Given the description of an element on the screen output the (x, y) to click on. 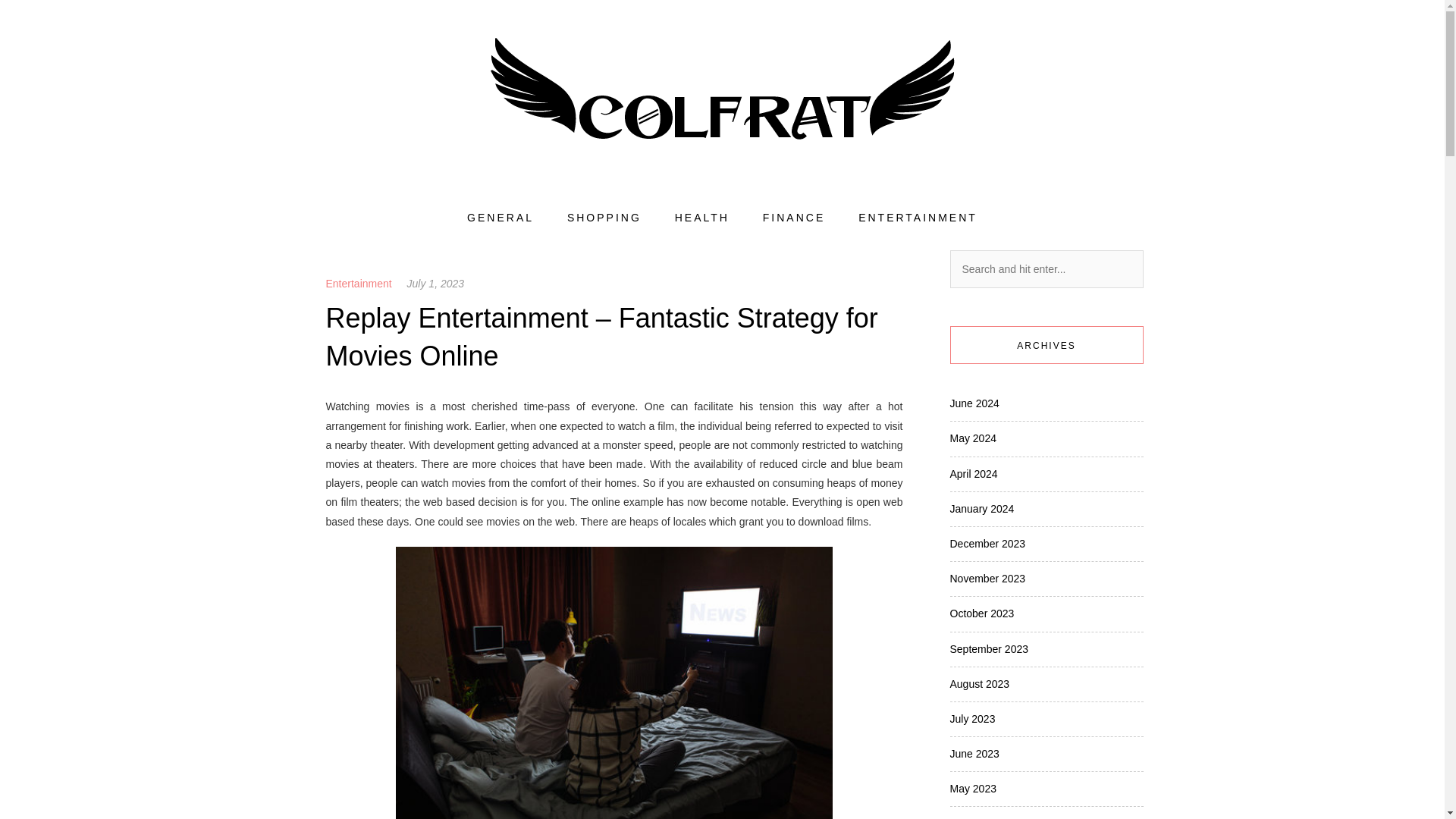
GENERAL (500, 217)
SHOPPING (604, 217)
November 2023 (987, 578)
May 2024 (972, 438)
May 2023 (972, 788)
ENTERTAINMENT (917, 217)
Entertainment (358, 283)
July 1, 2023 (435, 283)
FINANCE (793, 217)
June 2024 (973, 403)
September 2023 (988, 648)
October 2023 (981, 613)
January 2024 (981, 508)
June 2023 (973, 753)
December 2023 (987, 543)
